Given the description of an element on the screen output the (x, y) to click on. 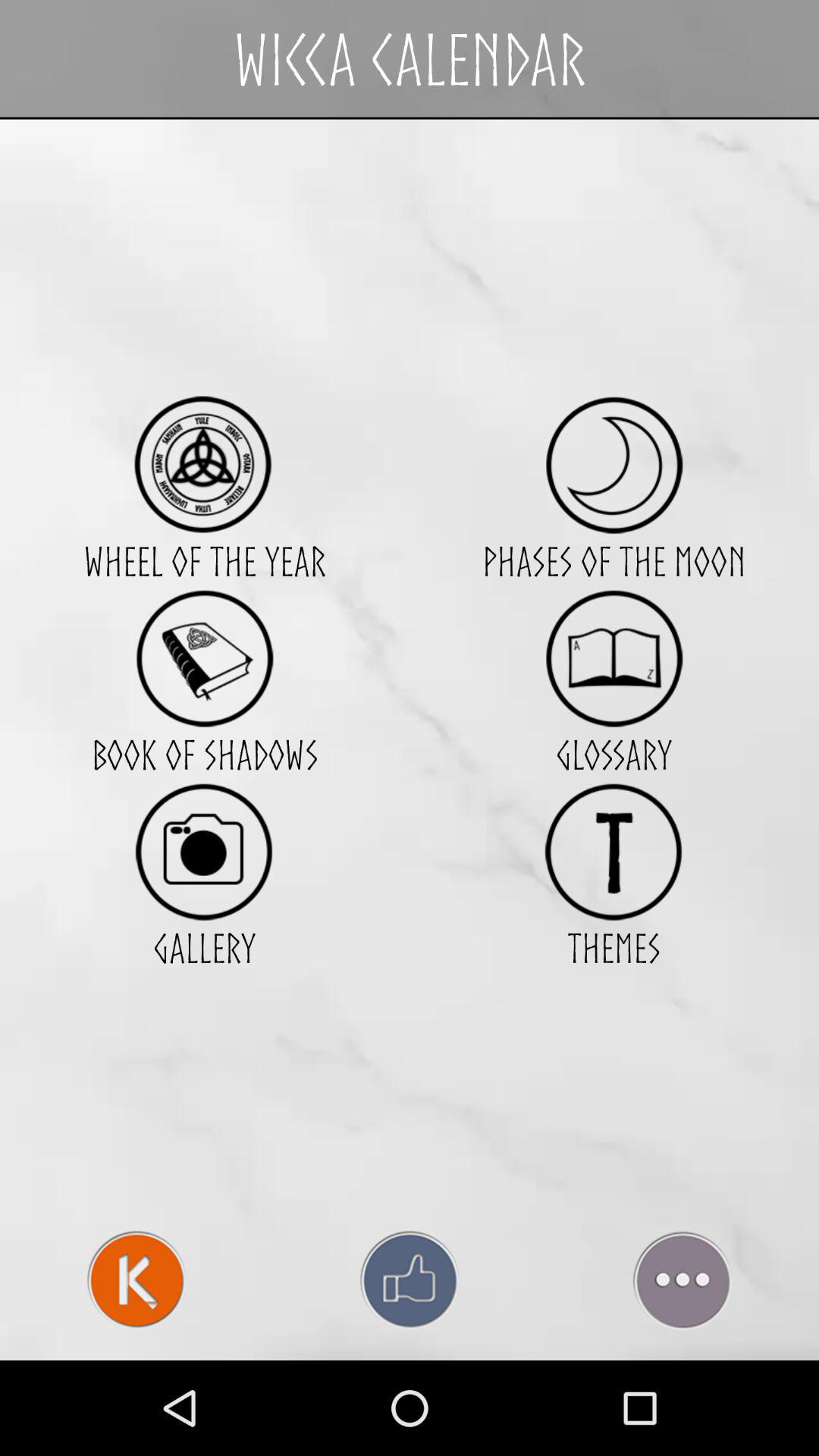
go to glossary (613, 658)
